Given the description of an element on the screen output the (x, y) to click on. 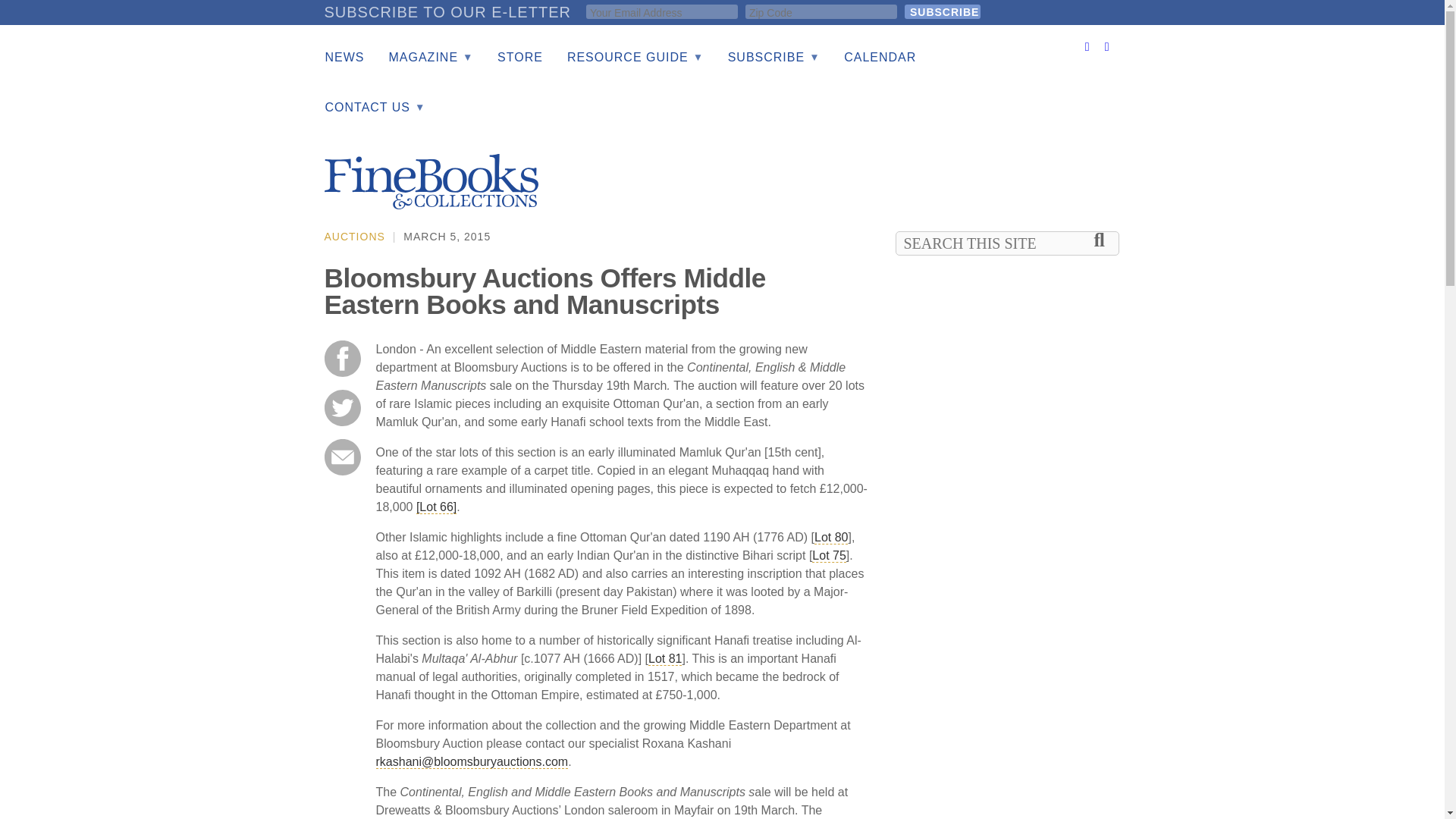
Lot 75 (828, 555)
3rd party ad content (845, 174)
3rd party ad content (1008, 778)
AUCTIONS (354, 236)
CALENDAR (879, 57)
Lot 80 (830, 537)
NEWS (344, 57)
3rd party ad content (1008, 502)
Subscribe (941, 11)
Lot 81 (664, 658)
Subscribe (941, 11)
STORE (519, 57)
